Given the description of an element on the screen output the (x, y) to click on. 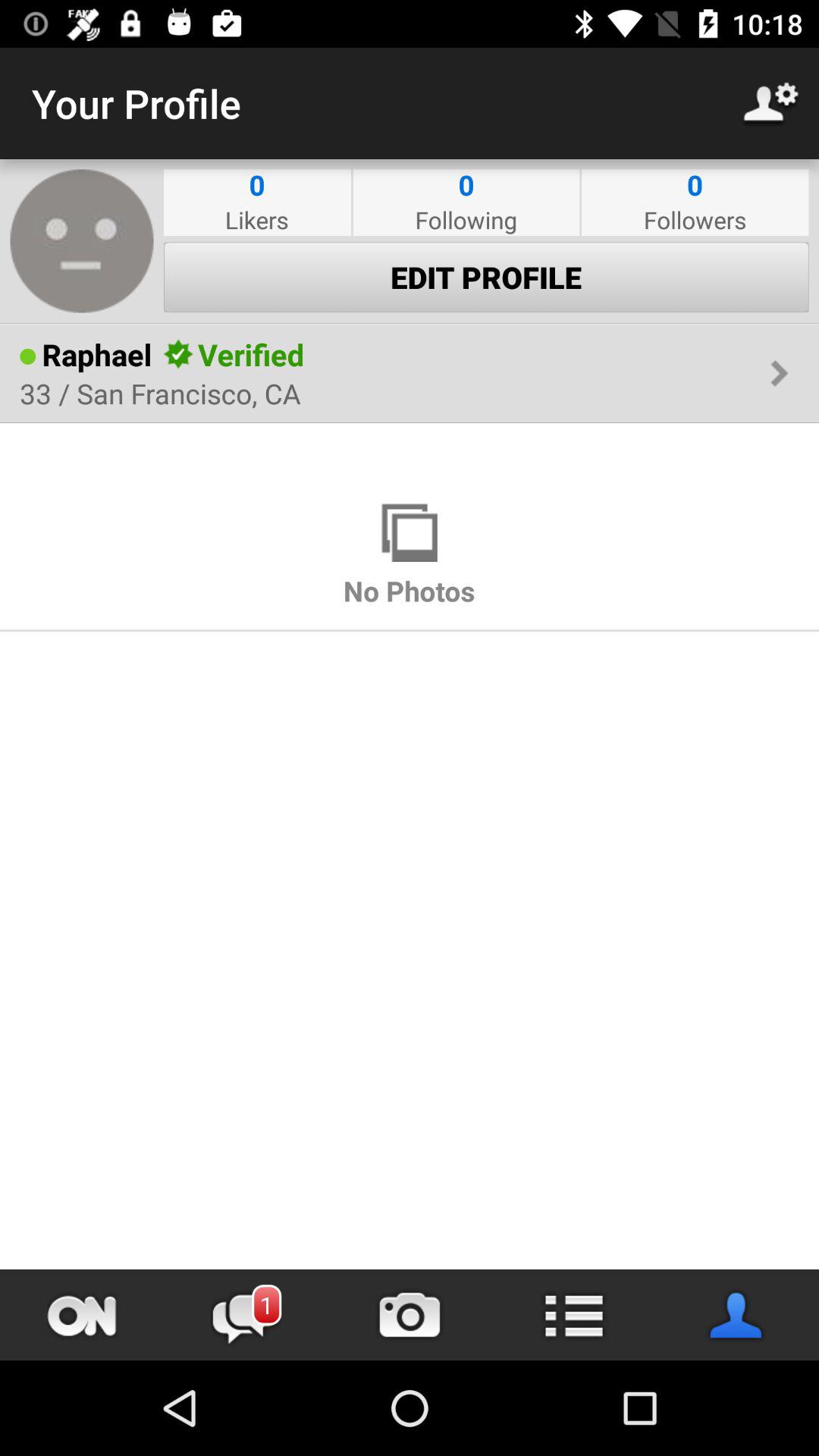
launch item below likers item (485, 277)
